Given the description of an element on the screen output the (x, y) to click on. 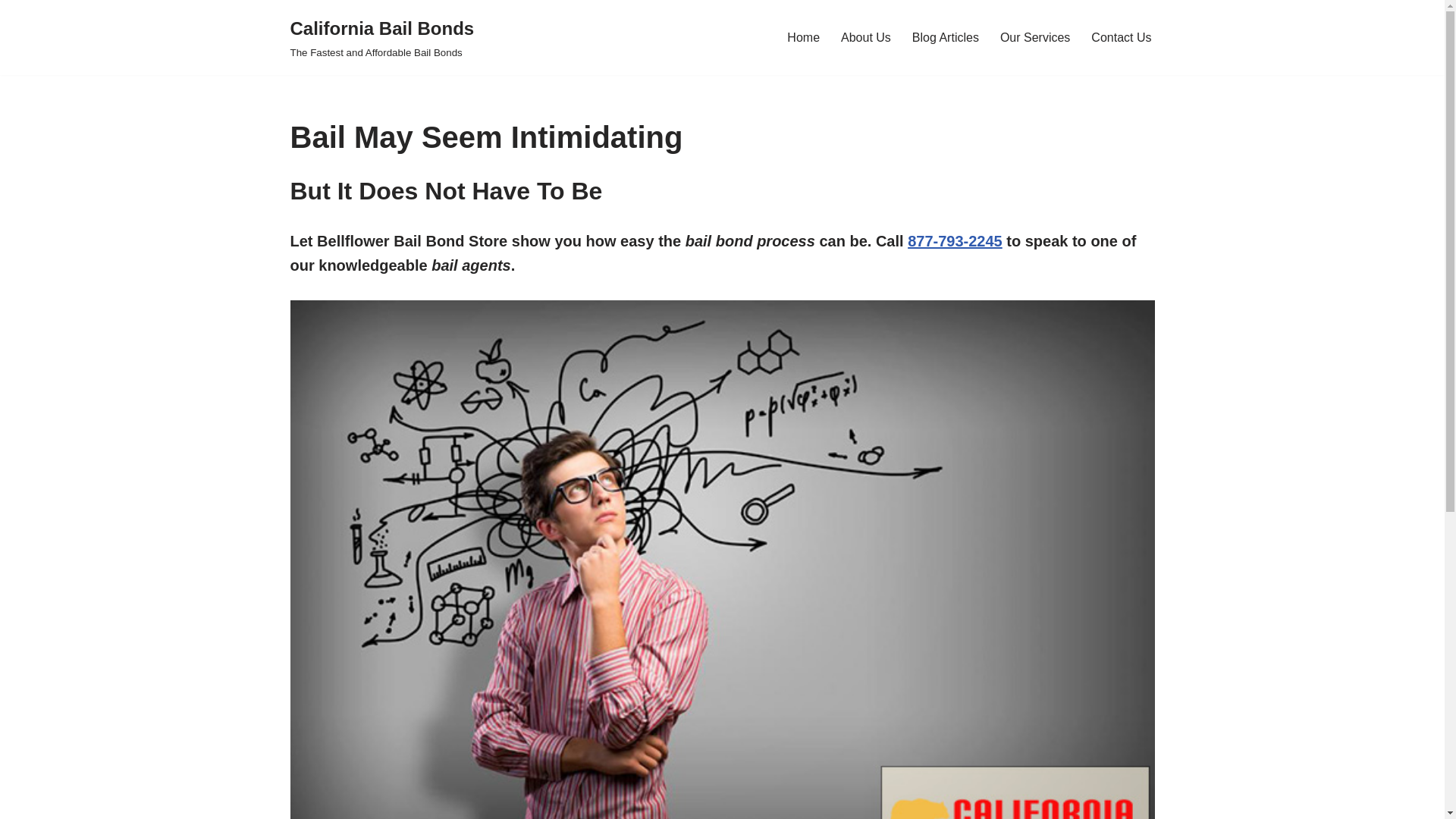
Skip to content (11, 31)
Home (381, 37)
Blog Articles (803, 37)
877-793-2245 (945, 37)
Our Services (955, 240)
About Us (1035, 37)
Contact Us (866, 37)
